Given the description of an element on the screen output the (x, y) to click on. 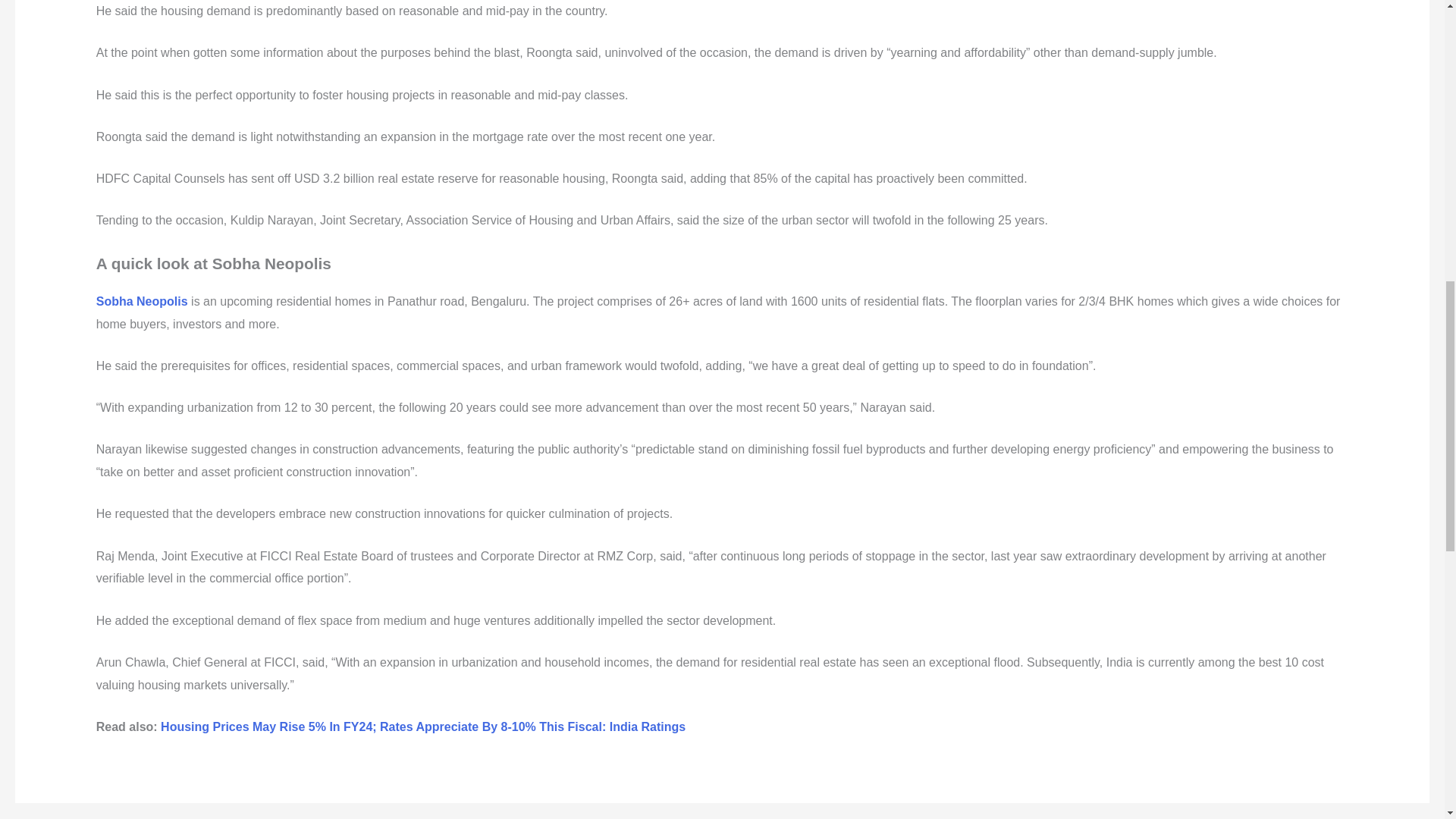
Sobha Neopolis (141, 300)
